Given the description of an element on the screen output the (x, y) to click on. 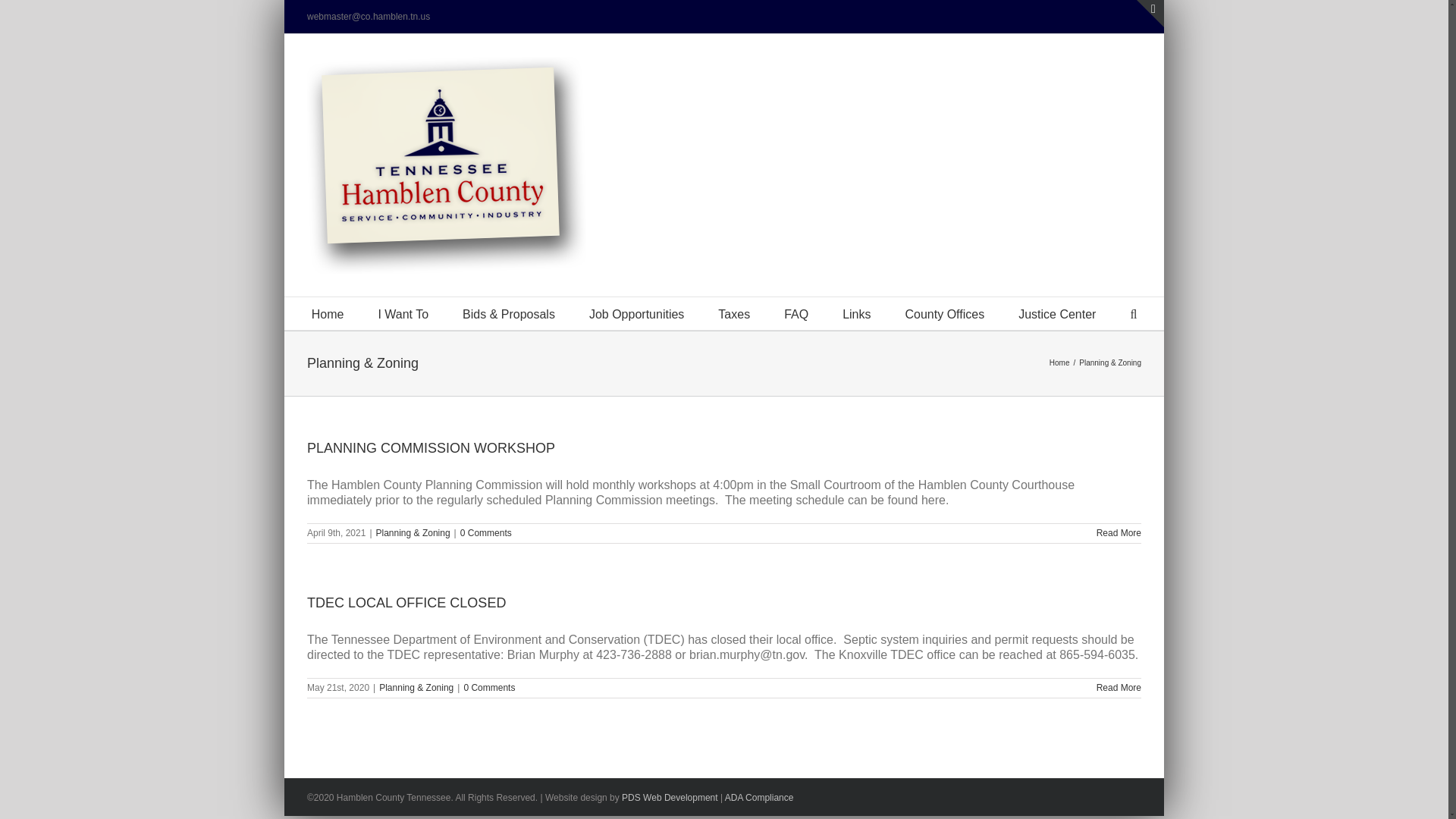
County Offices (945, 313)
Home (327, 313)
Taxes (733, 313)
Job Opportunities (636, 313)
I Want To (402, 313)
